Given the description of an element on the screen output the (x, y) to click on. 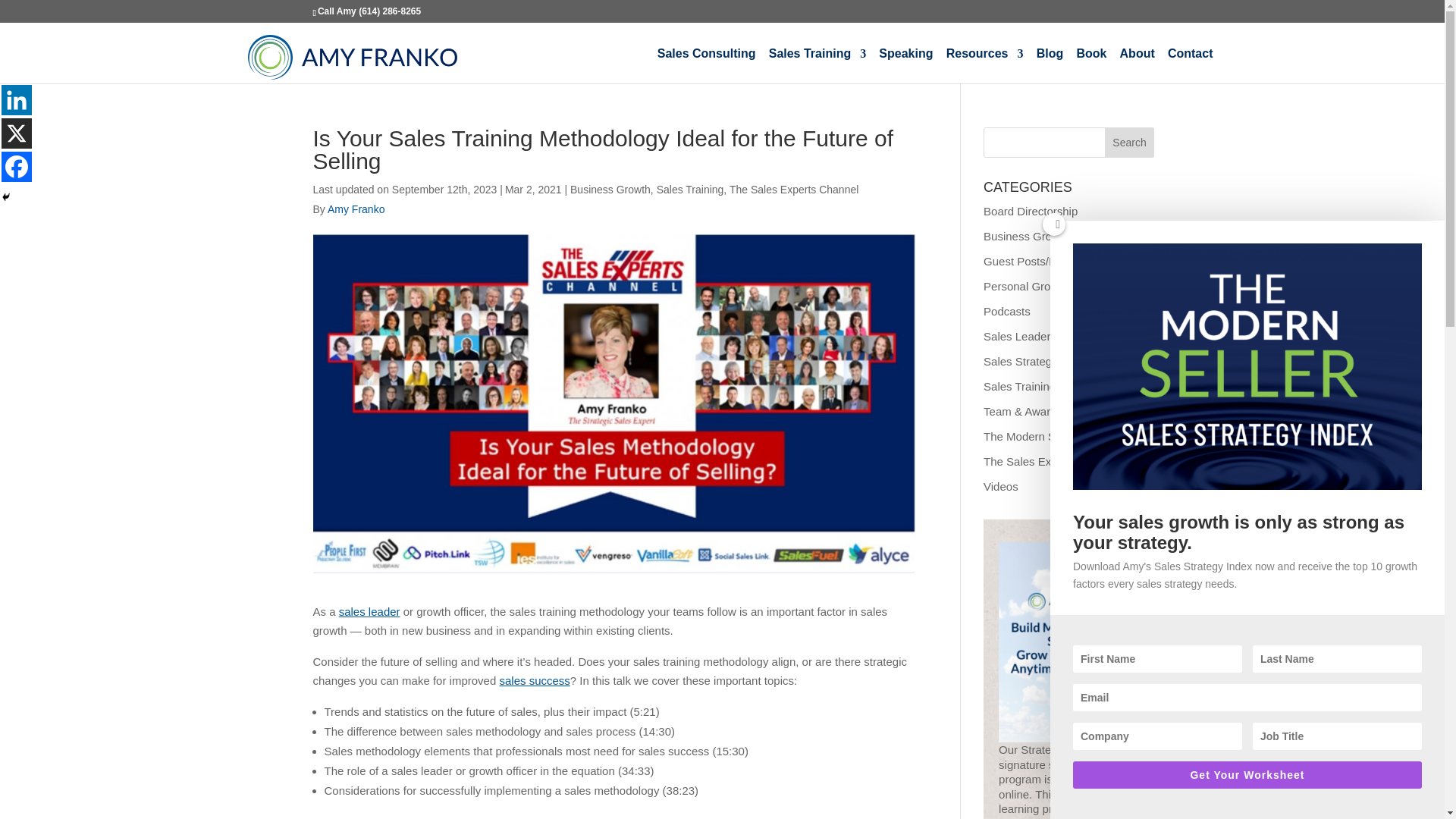
Search (1129, 142)
Contact (1189, 65)
Sales Training (817, 65)
Business Growth (610, 189)
Amy Franko (355, 209)
Search (1129, 142)
sales leader (369, 611)
About (1136, 65)
Speaking (906, 65)
The Sales Experts Channel (794, 189)
Resources (984, 65)
Board Directorship (1030, 210)
Hide (5, 196)
Linkedin (16, 100)
Facebook (16, 166)
